Given the description of an element on the screen output the (x, y) to click on. 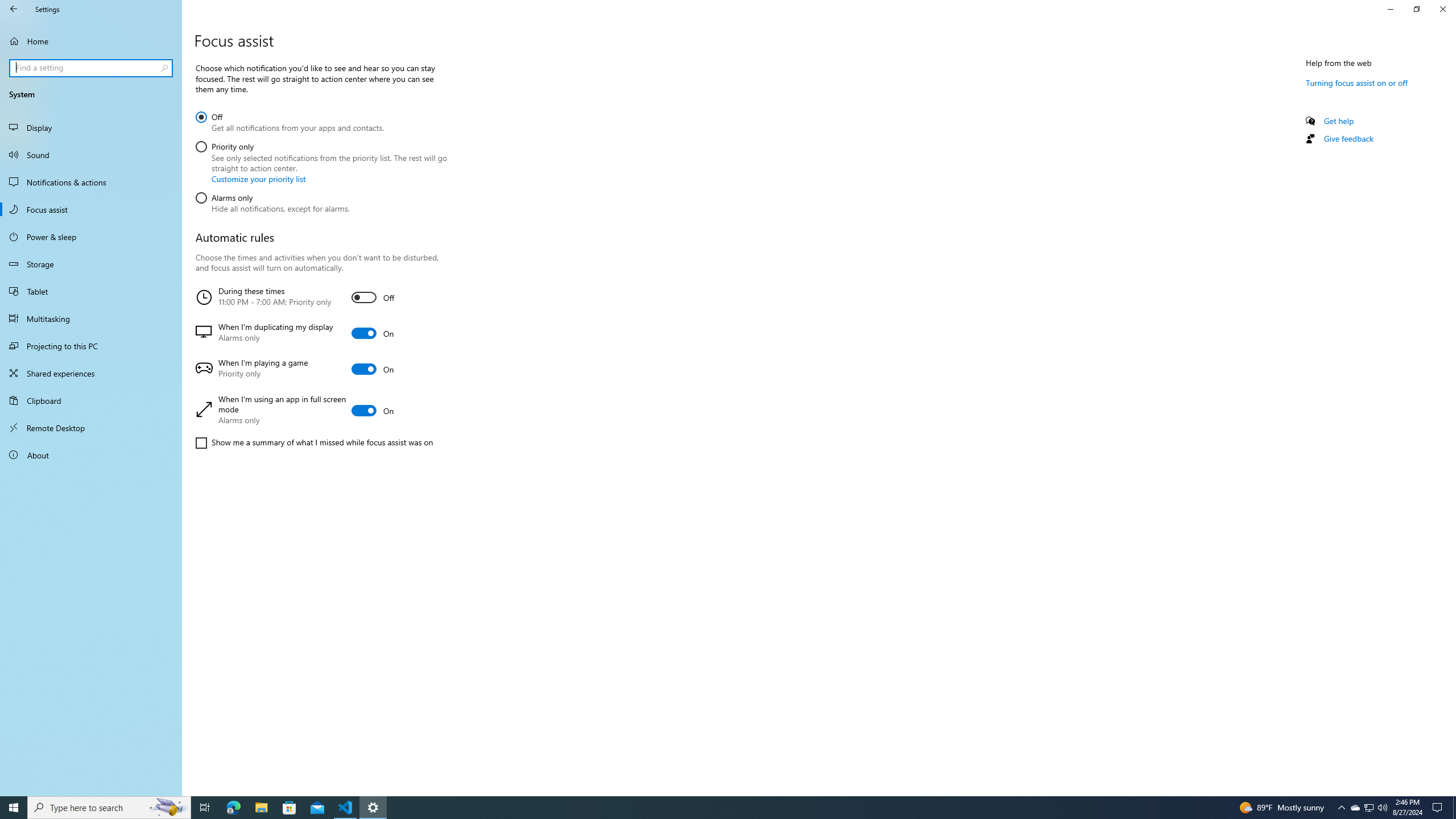
When I'm using an app in full screen mode (319, 410)
Give feedback (1348, 138)
Shared experiences (91, 372)
When I'm playing a game (319, 369)
Close Settings (1442, 9)
Display (91, 126)
Settings - 1 running window (373, 807)
Off (289, 120)
Customize your priority list (258, 178)
Projecting to this PC (91, 345)
